Given the description of an element on the screen output the (x, y) to click on. 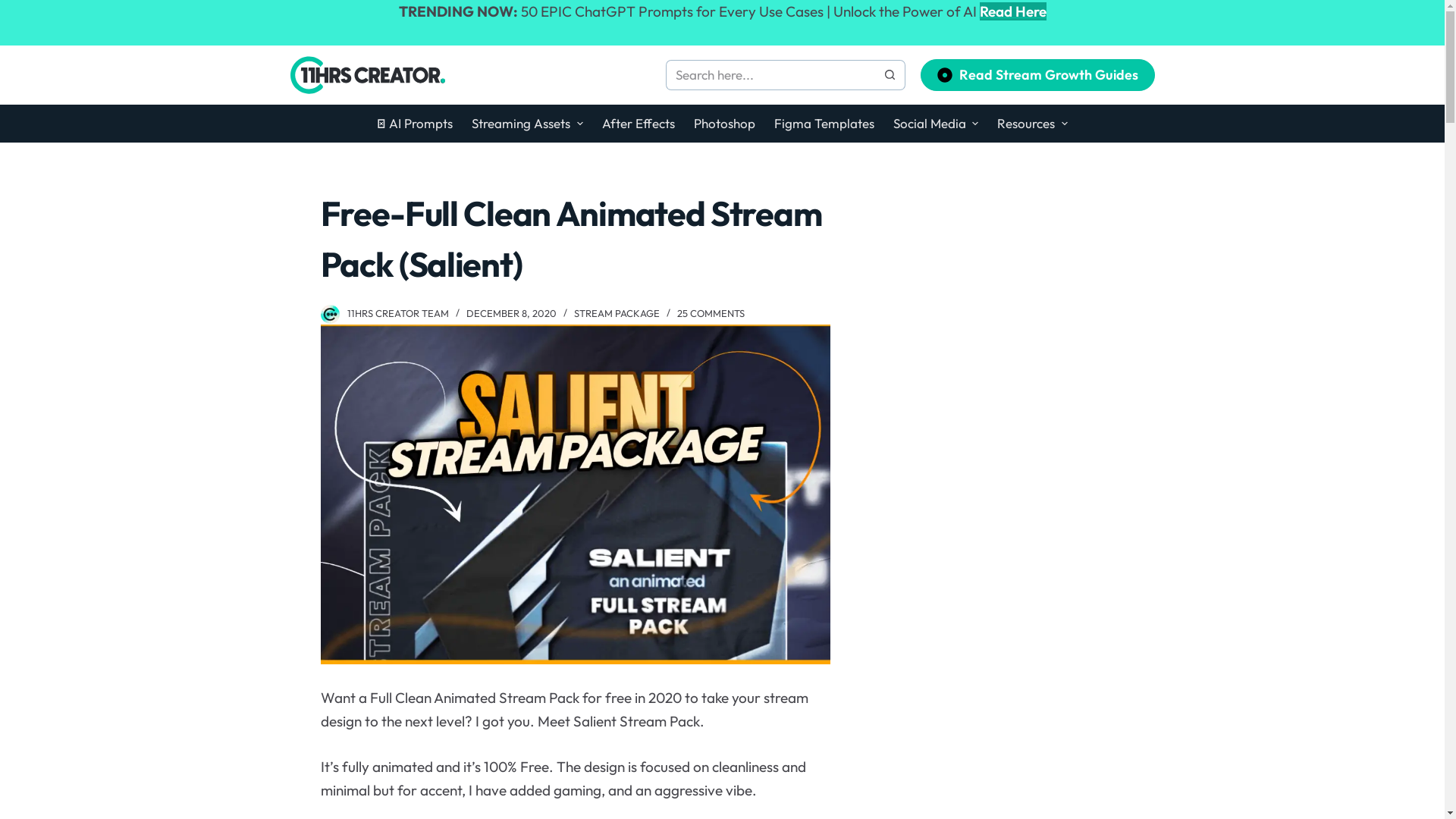
STREAM PACKAGE Element type: text (615, 313)
Read Here Element type: text (1012, 11)
Streaming Assets Element type: text (527, 123)
25 COMMENTS Element type: text (709, 313)
Skip to content Element type: text (15, 7)
11HRS CREATOR TEAM Element type: text (397, 313)
Photoshop Element type: text (724, 123)
Social Media Element type: text (935, 123)
Search for... Element type: hover (770, 74)
Read Stream Growth Guides Element type: text (1037, 75)
After Effects Element type: text (638, 123)
Figma Templates Element type: text (823, 123)
Resources Element type: text (1032, 123)
